Given the description of an element on the screen output the (x, y) to click on. 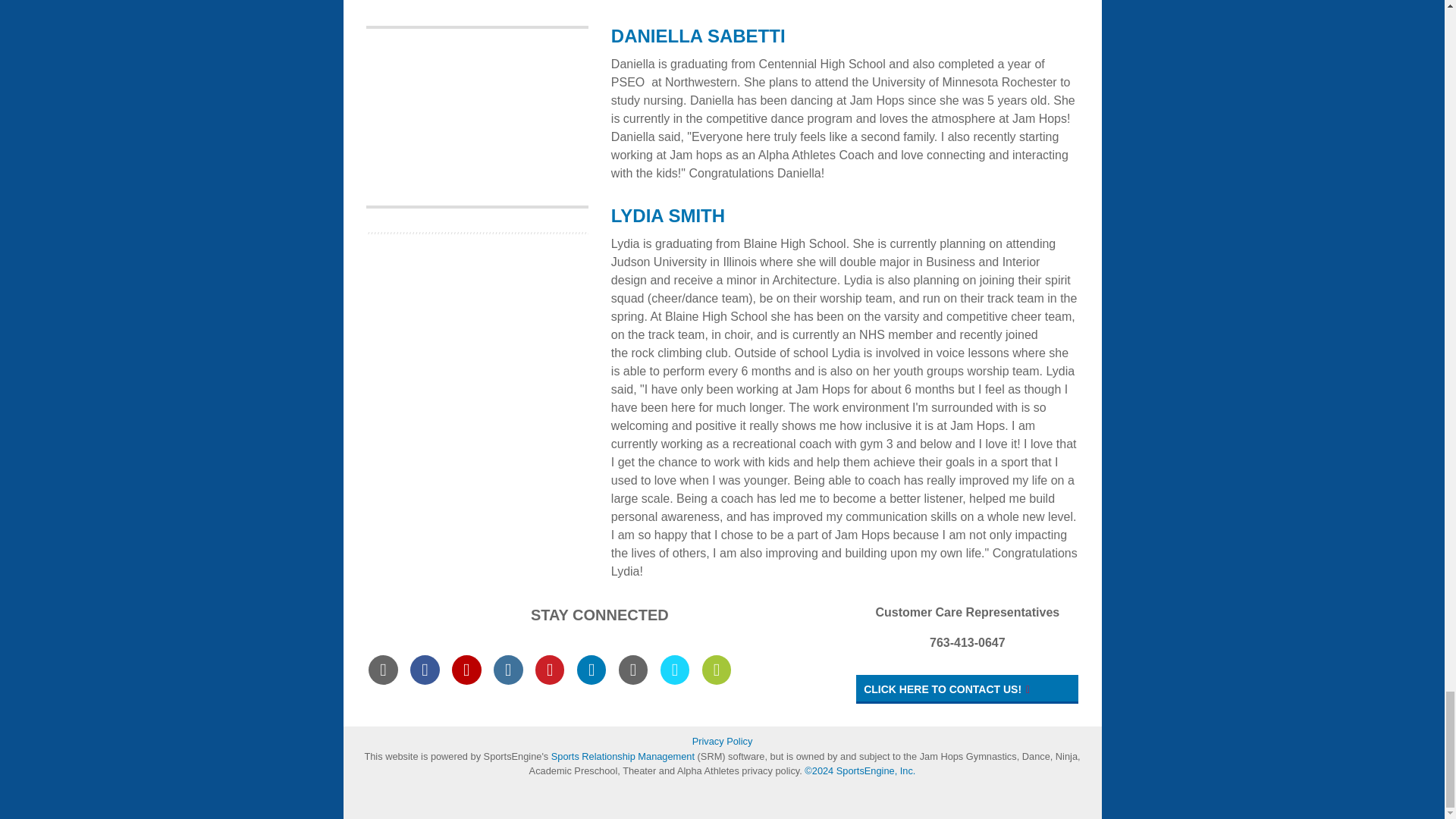
CLICK HERE TO CONTACT US! (967, 688)
E-Mail (382, 669)
Facebook (424, 669)
Privacy Policy (722, 740)
Sports Relationship Management (624, 756)
